Given the description of an element on the screen output the (x, y) to click on. 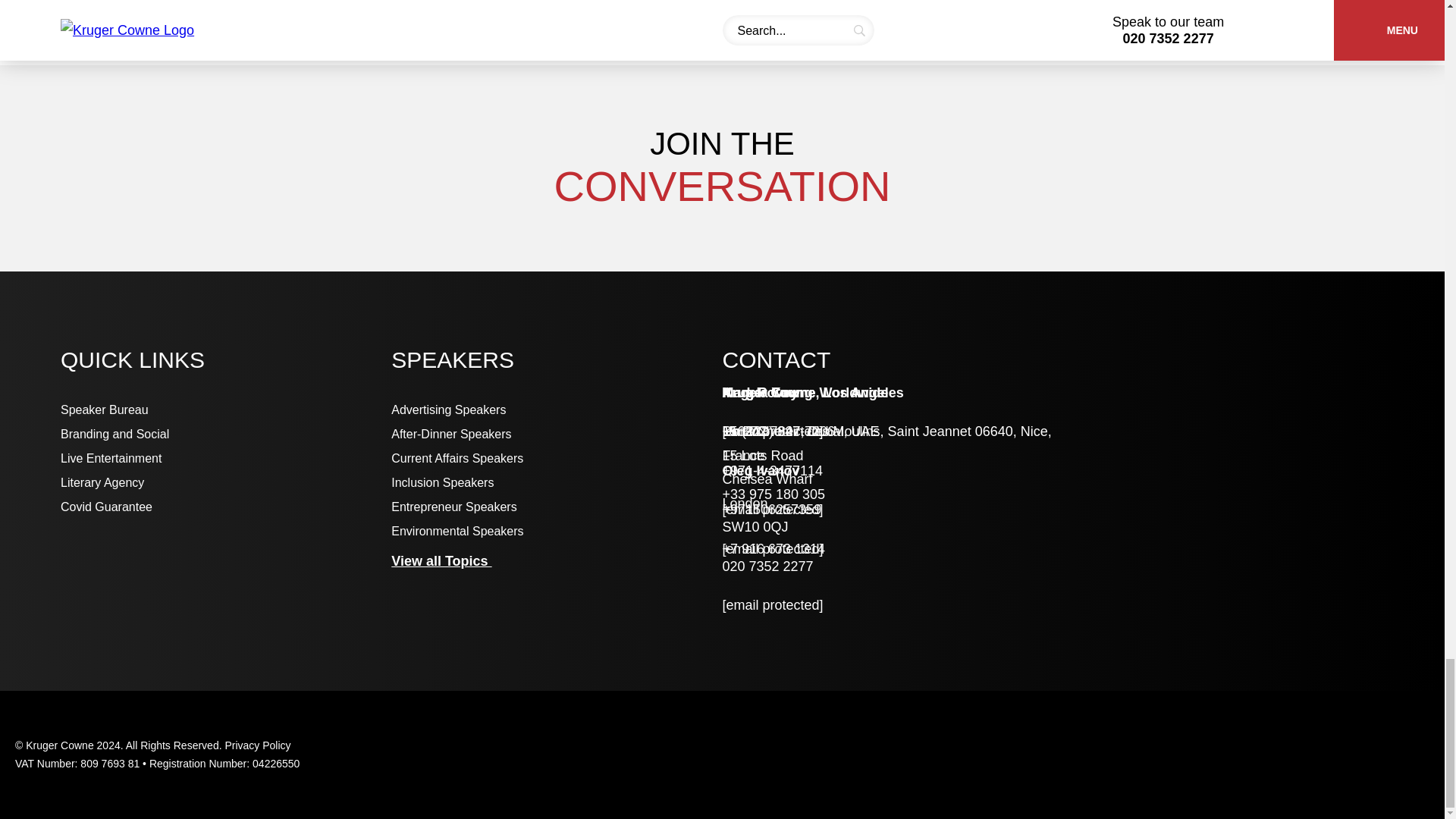
Live Entertainment (226, 458)
Speaker Bureau (226, 410)
Branding and Social (226, 434)
Covid Guarantee (226, 507)
Advertising Speakers (556, 410)
Literary Agency (226, 482)
